Given the description of an element on the screen output the (x, y) to click on. 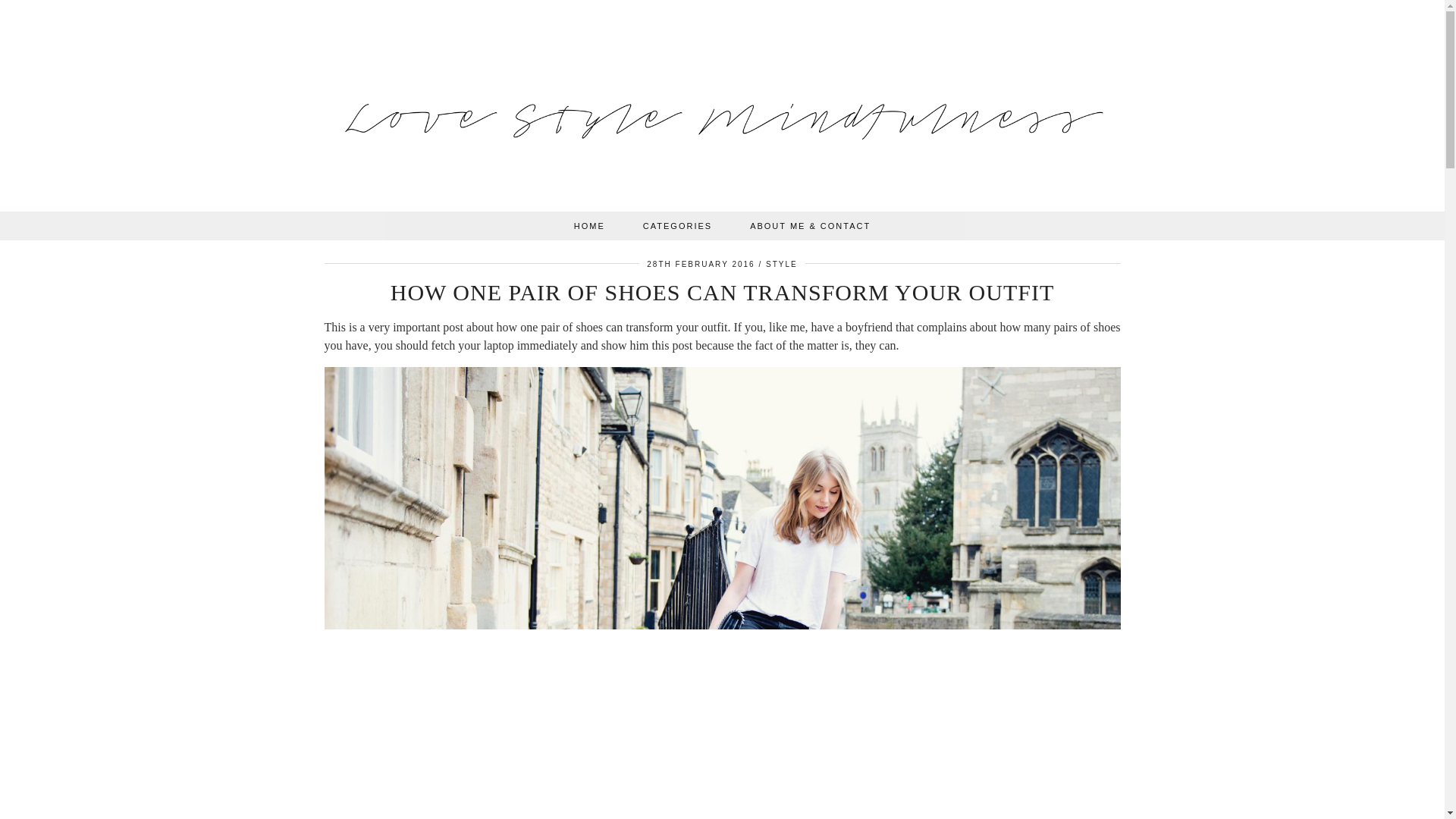
CATEGORIES (677, 225)
HOME (589, 225)
STYLE (781, 264)
